Given the description of an element on the screen output the (x, y) to click on. 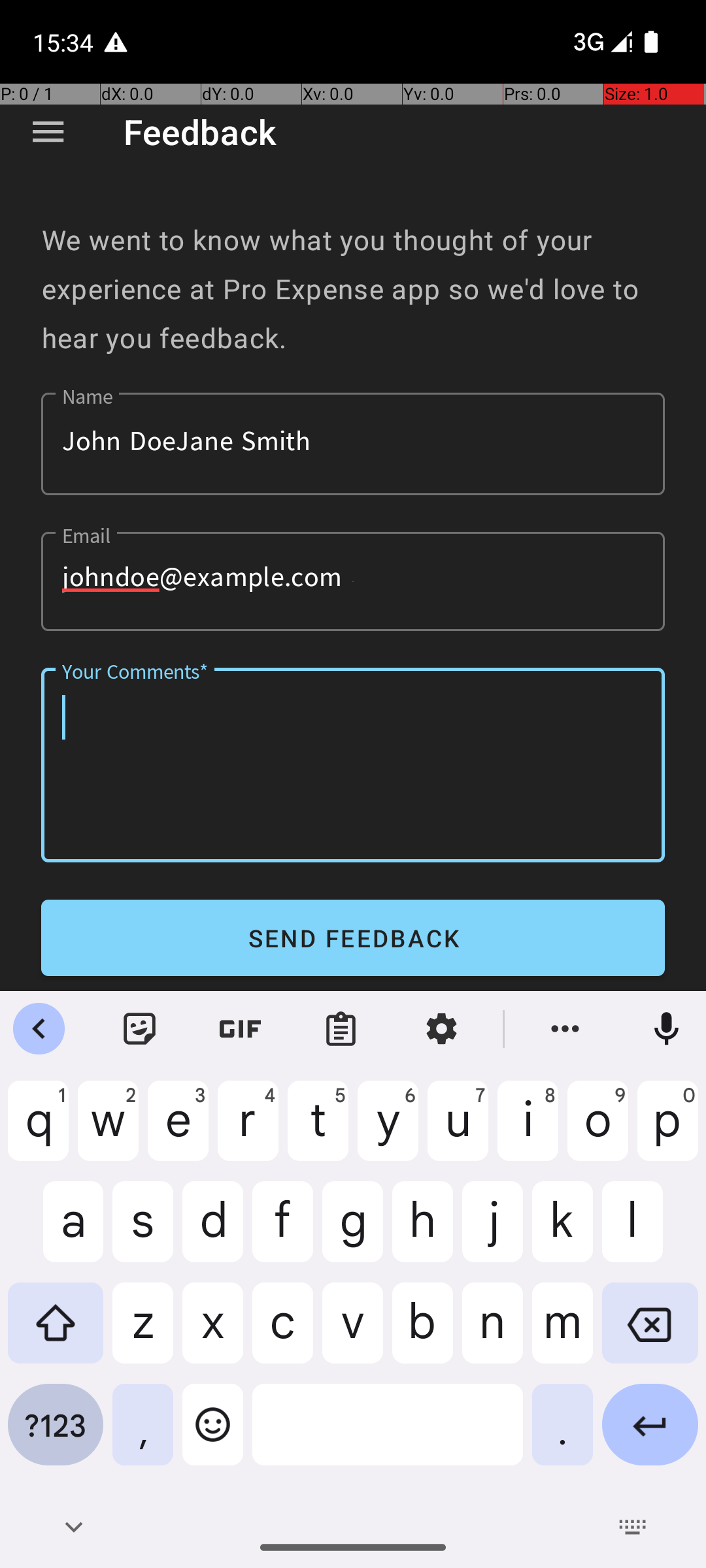
Feedback Element type: android.widget.TextView (200, 131)
We went to know what you thought of your experience at Pro Expense app so we'd love to hear you feedback. Element type: android.widget.TextView (352, 288)
John DoeJane Smith Element type: android.widget.EditText (352, 443)
johndoe@example.com Element type: android.widget.EditText (352, 581)
Your Comments* Element type: android.widget.EditText (352, 764)
SEND FEEDBACK Element type: android.widget.Button (352, 937)
Close features menu Element type: android.widget.FrameLayout (39, 1028)
Sticker Keyboard Element type: android.widget.FrameLayout (139, 1028)
GIF Keyboard Element type: android.widget.FrameLayout (240, 1028)
Clipboard Element type: android.widget.FrameLayout (340, 1028)
More features Element type: android.widget.FrameLayout (565, 1028)
